Given the description of an element on the screen output the (x, y) to click on. 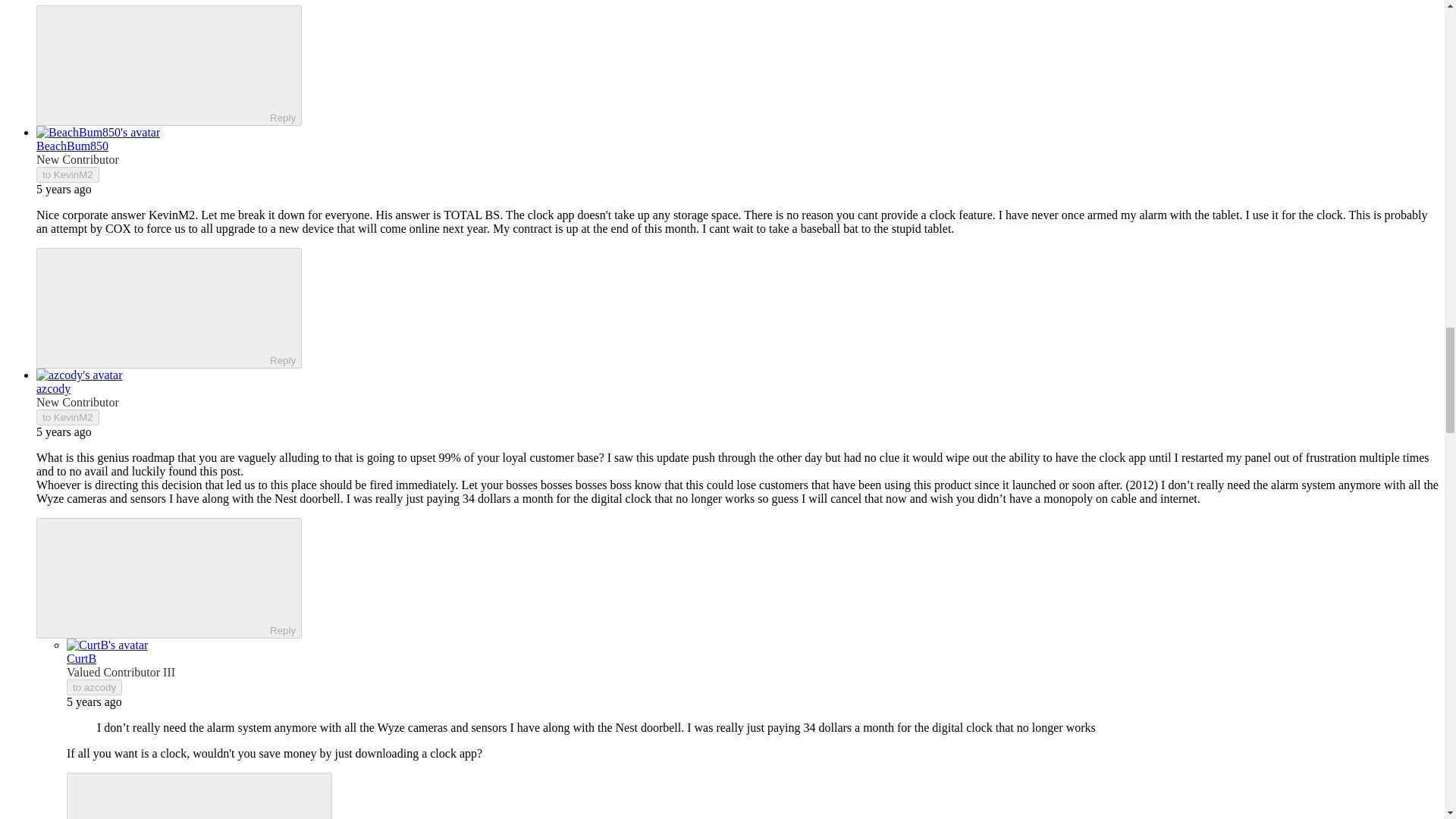
December 21, 2019 at 4:11 AM (63, 431)
Reply (155, 576)
Reply (185, 796)
December 10, 2019 at 9:49 PM (63, 188)
Reply (155, 64)
Reply (155, 306)
December 21, 2019 at 4:18 AM (94, 701)
